Given the description of an element on the screen output the (x, y) to click on. 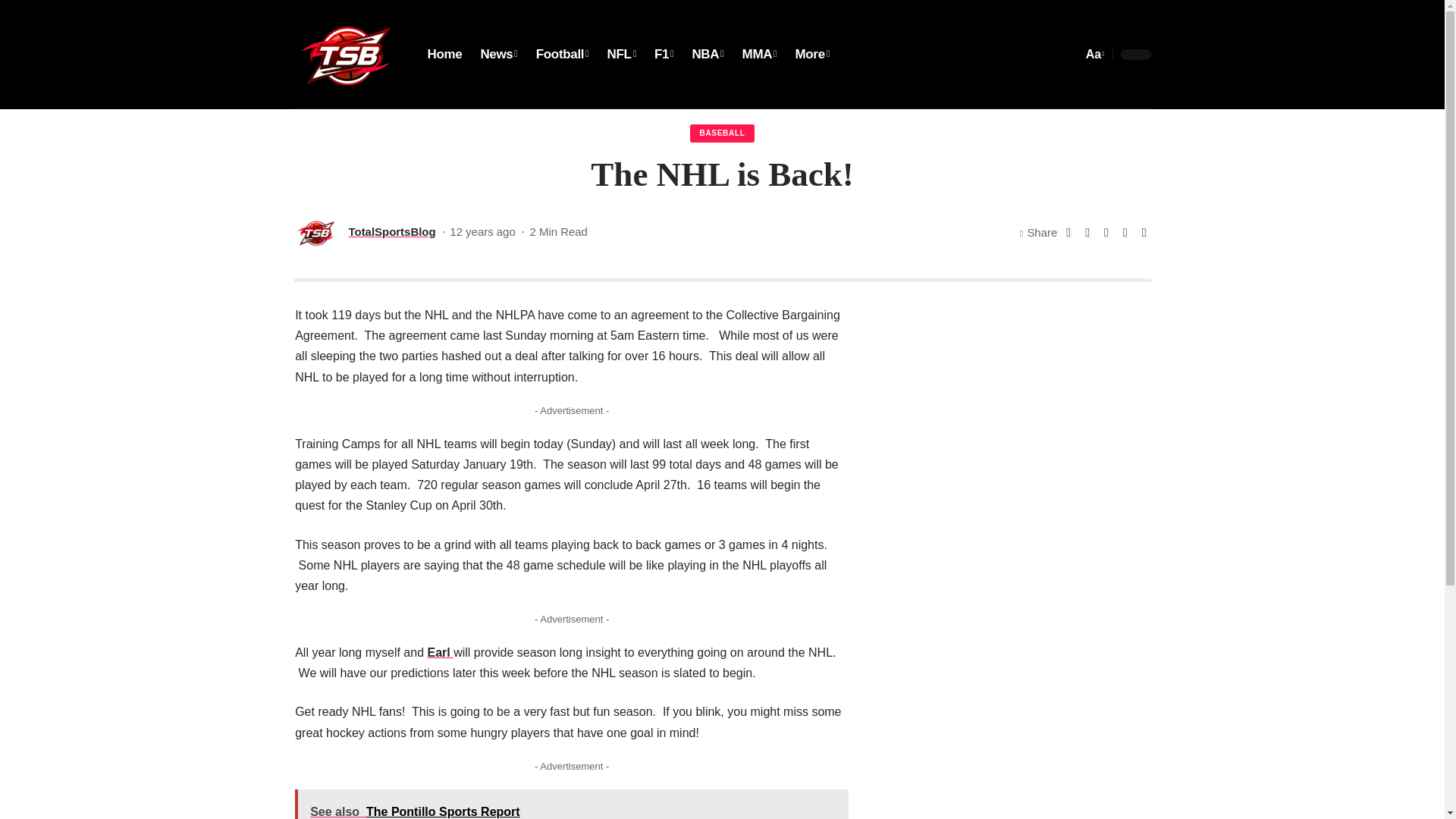
Total Sports Blog (348, 54)
